Given the description of an element on the screen output the (x, y) to click on. 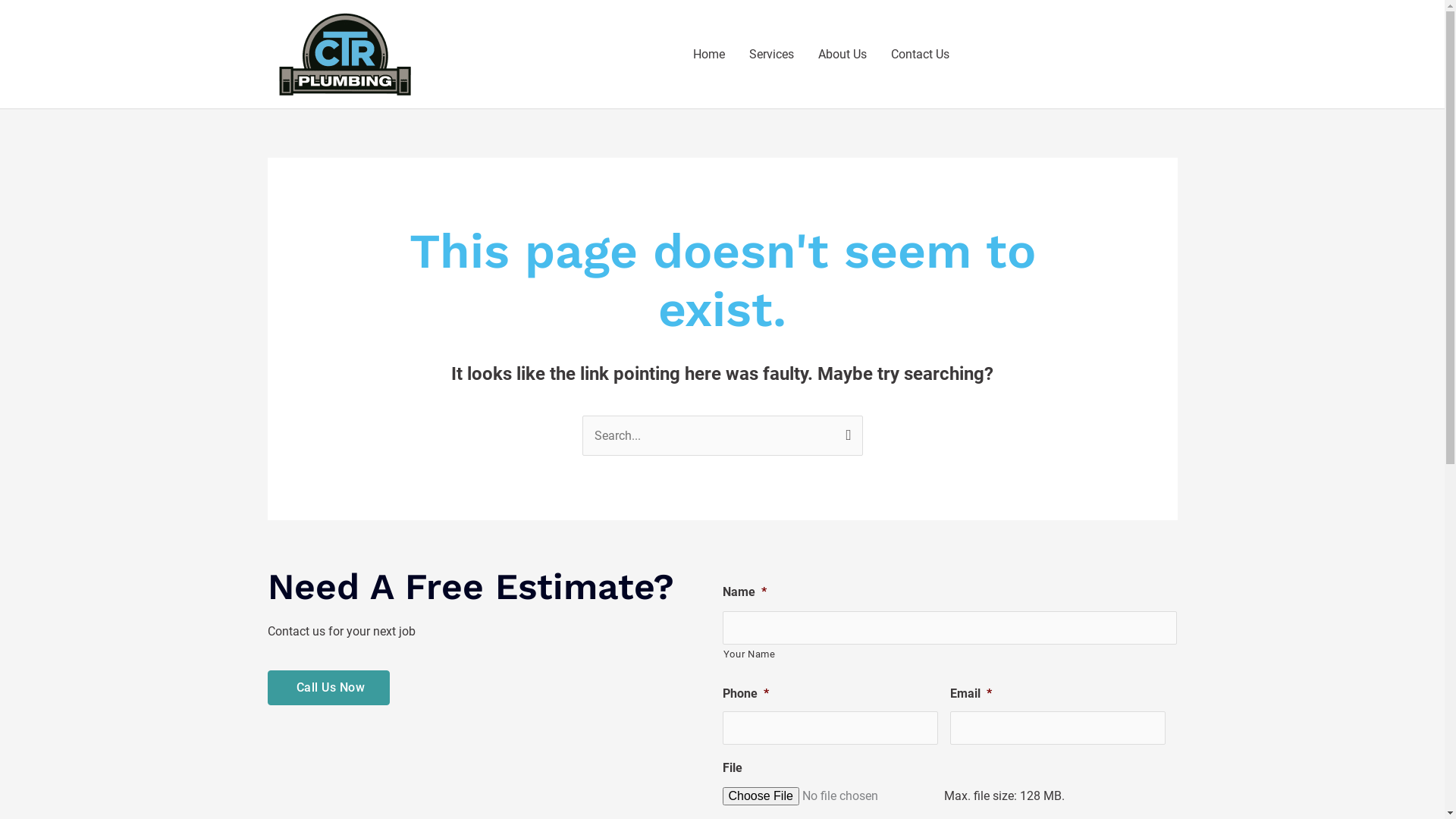
Call Us Now Element type: text (327, 687)
Home Element type: text (708, 54)
Services Element type: text (771, 54)
About Us Element type: text (842, 54)
Contact Us Element type: text (919, 54)
Get a Free Estimate Element type: text (1069, 53)
Search Element type: text (845, 431)
